Given the description of an element on the screen output the (x, y) to click on. 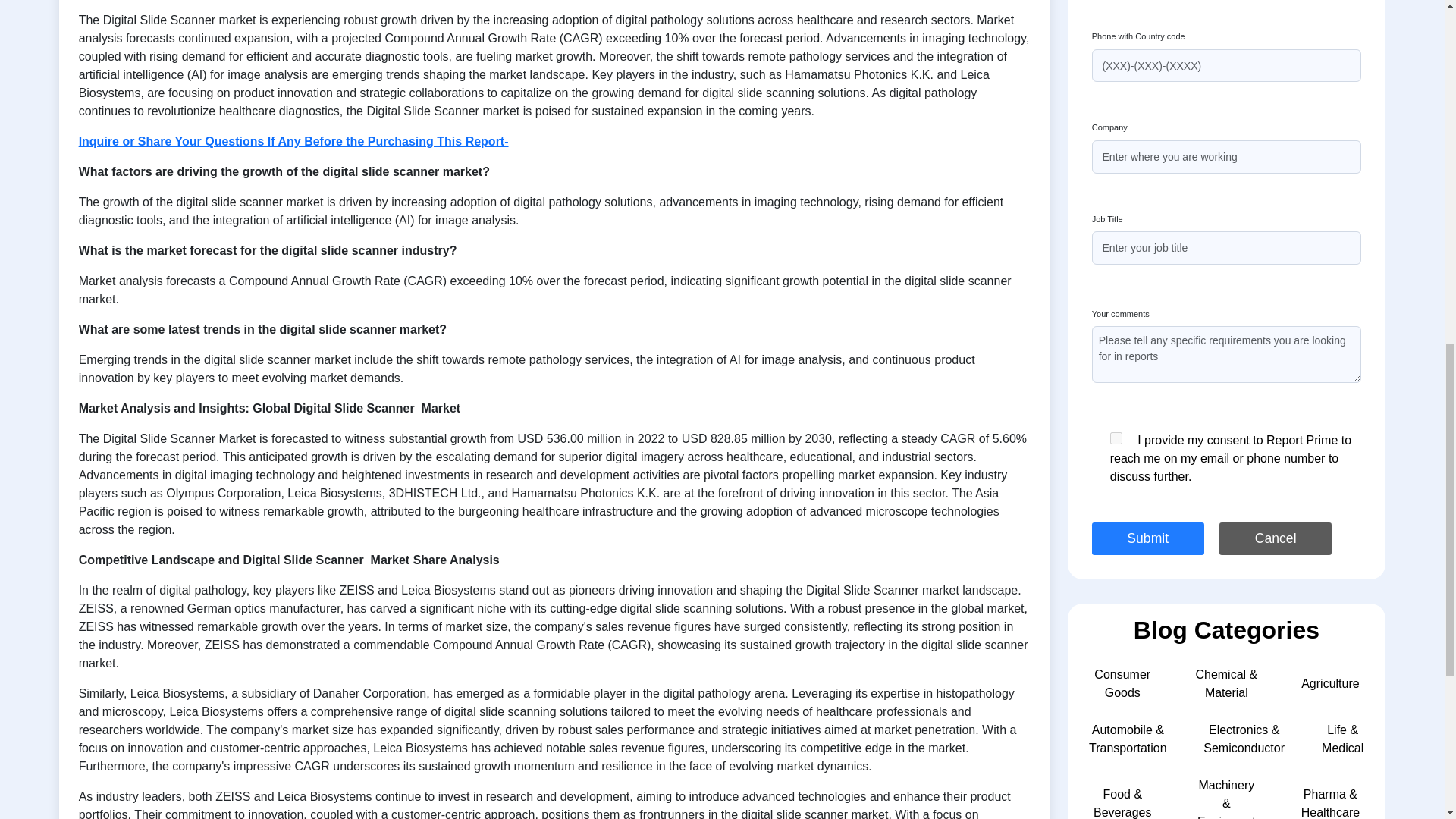
Consumer Goods (1122, 683)
Agriculture (1329, 683)
Submit (1148, 538)
Cancel (1276, 538)
